Given the description of an element on the screen output the (x, y) to click on. 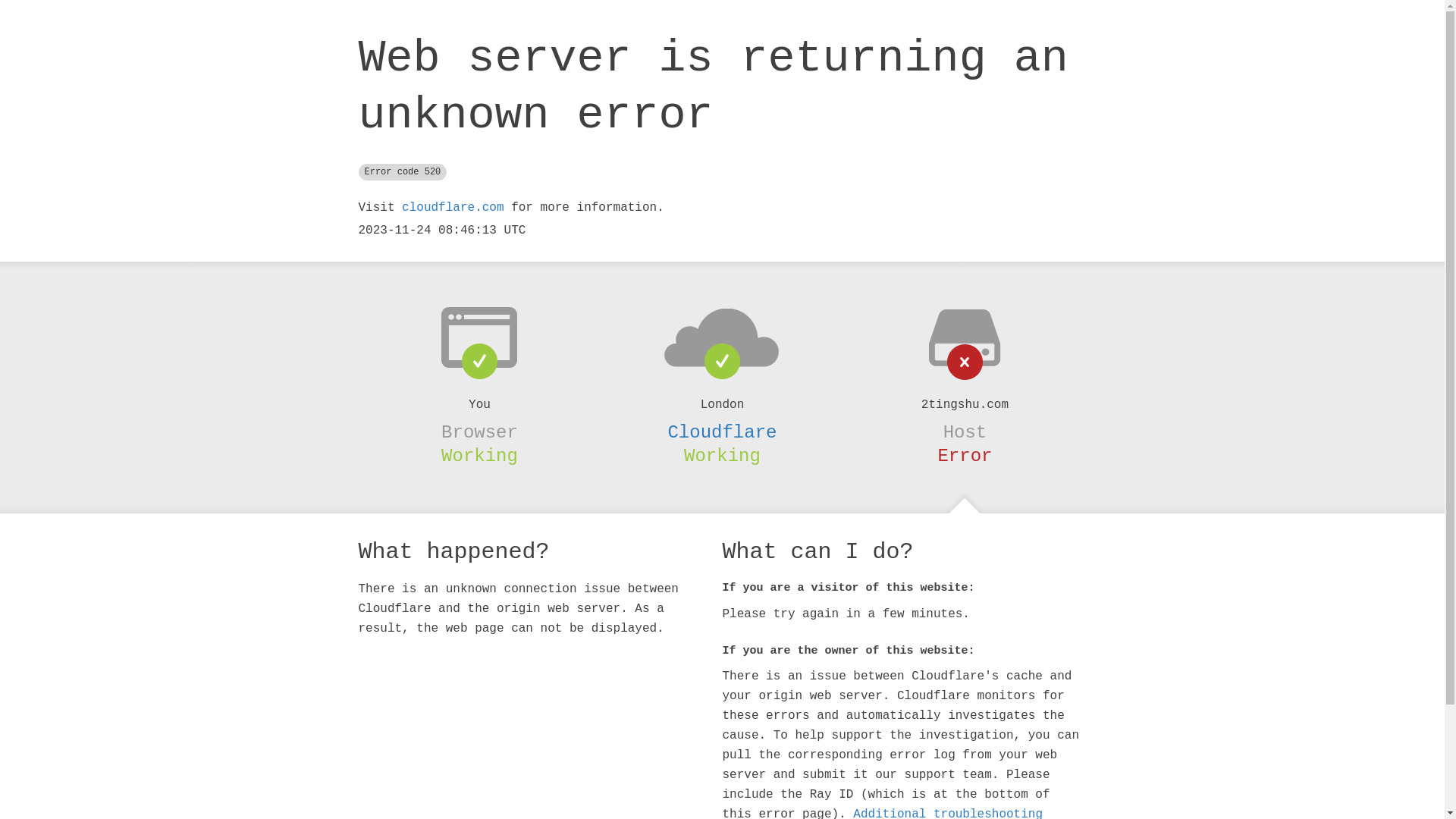
Cloudflare Element type: text (721, 432)
cloudflare.com Element type: text (452, 207)
